Given the description of an element on the screen output the (x, y) to click on. 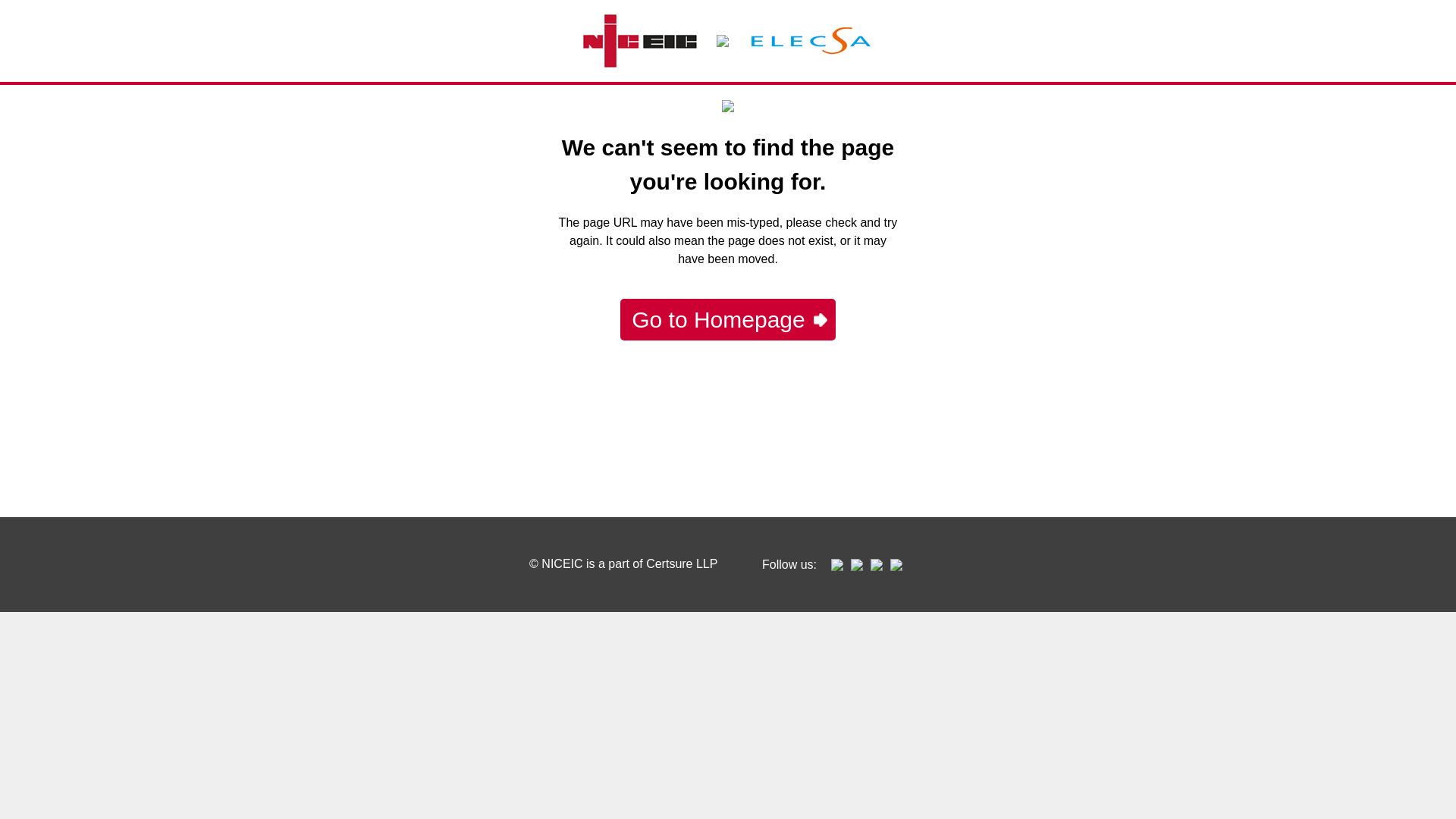
Go to Homepage Element type: text (727, 319)
